Given the description of an element on the screen output the (x, y) to click on. 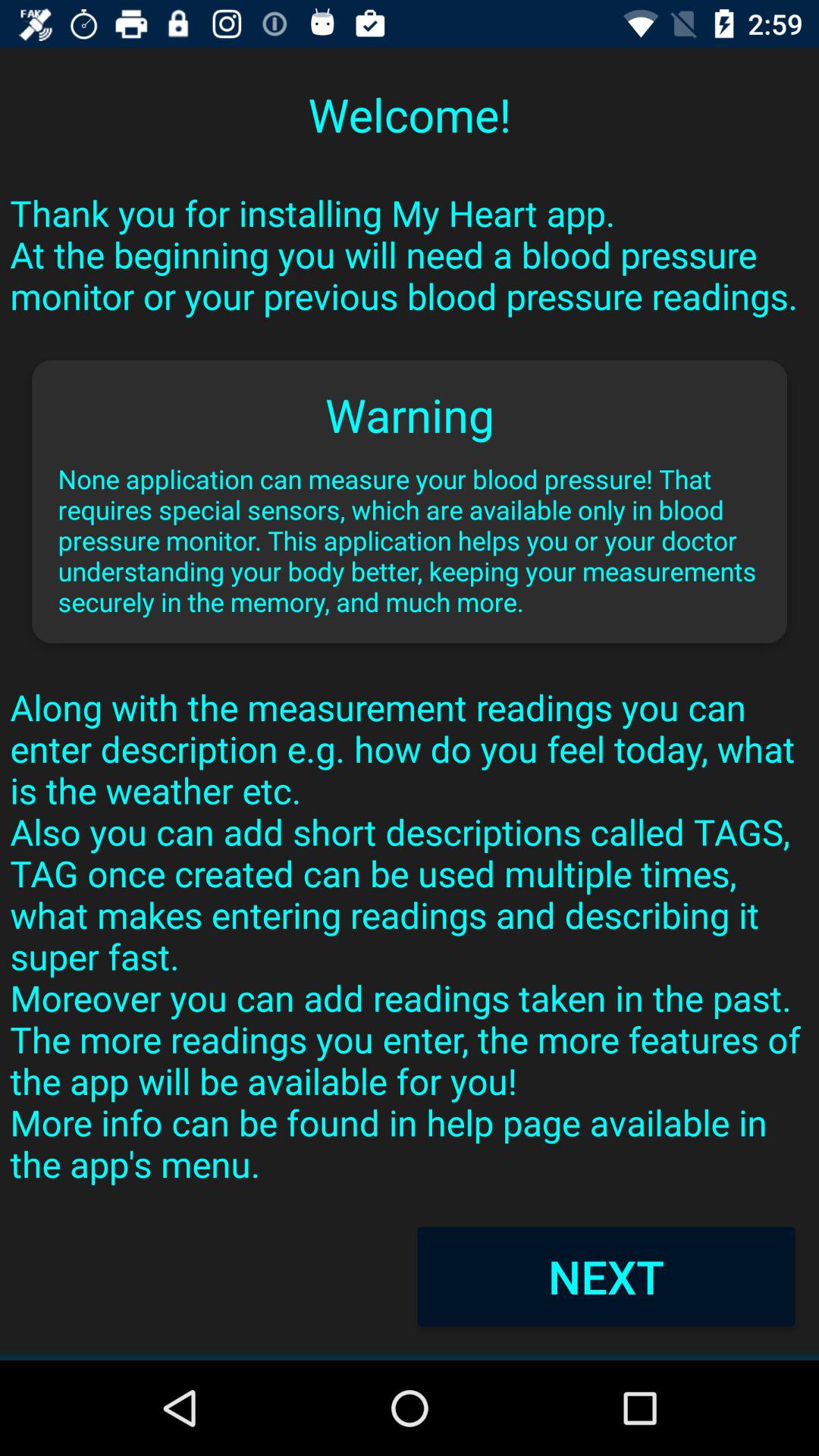
turn on next item (606, 1276)
